Given the description of an element on the screen output the (x, y) to click on. 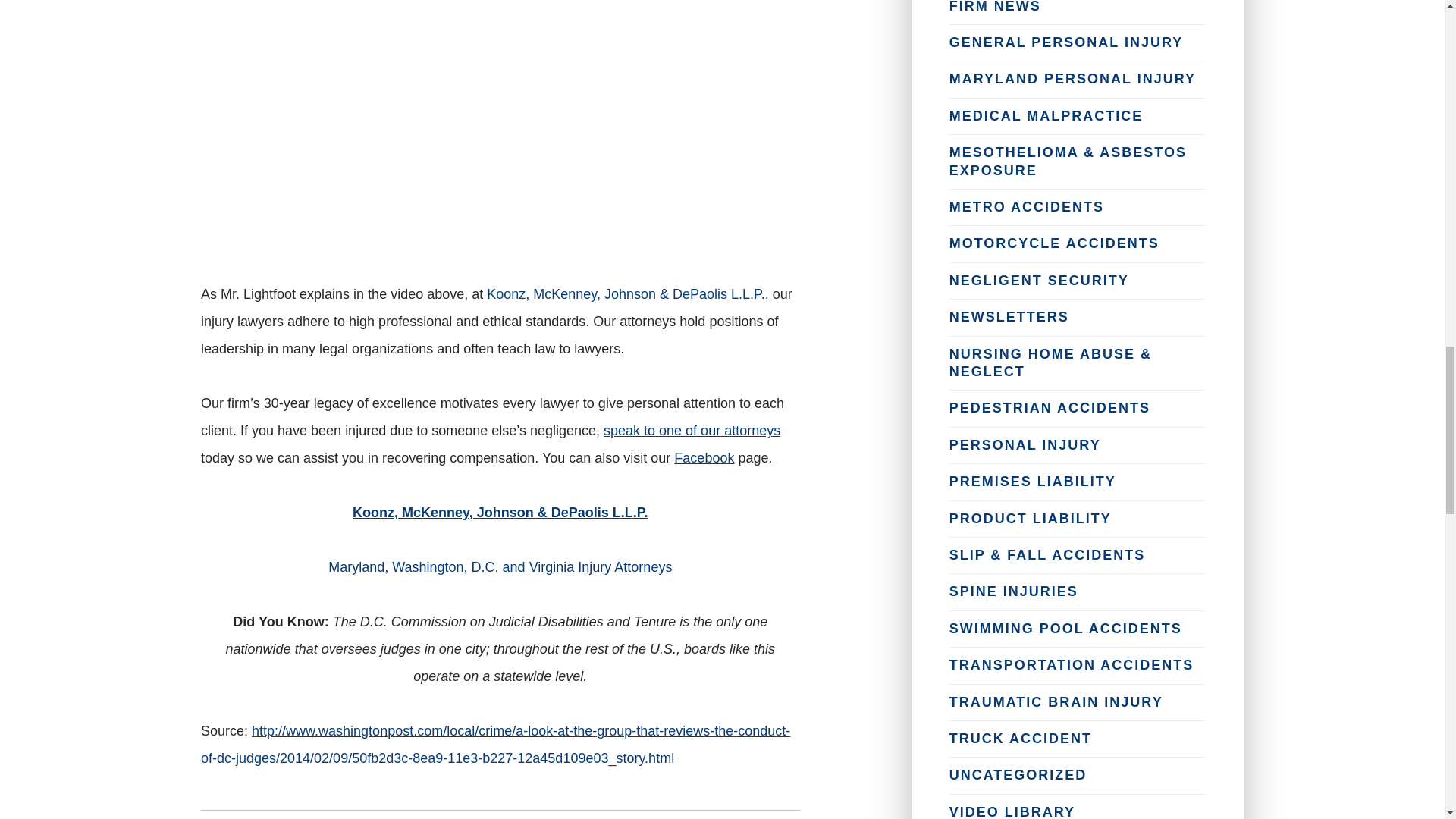
Link to contact us (692, 430)
Link to firm overview (625, 294)
Link to firm overview (499, 512)
Link to our Facebook page (703, 458)
Link to Article Source (495, 744)
Link to our attorneys (500, 566)
